Given the description of an element on the screen output the (x, y) to click on. 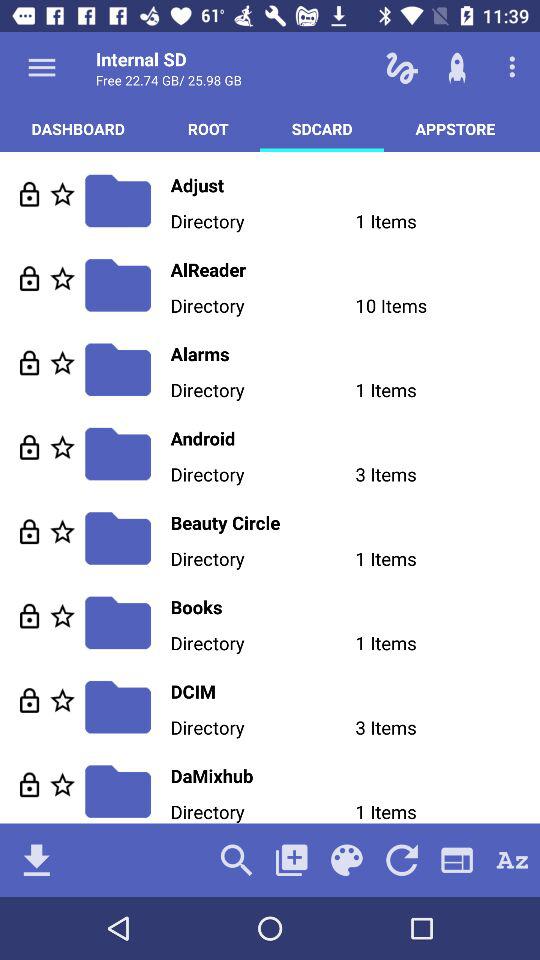
lock folder (29, 531)
